Given the description of an element on the screen output the (x, y) to click on. 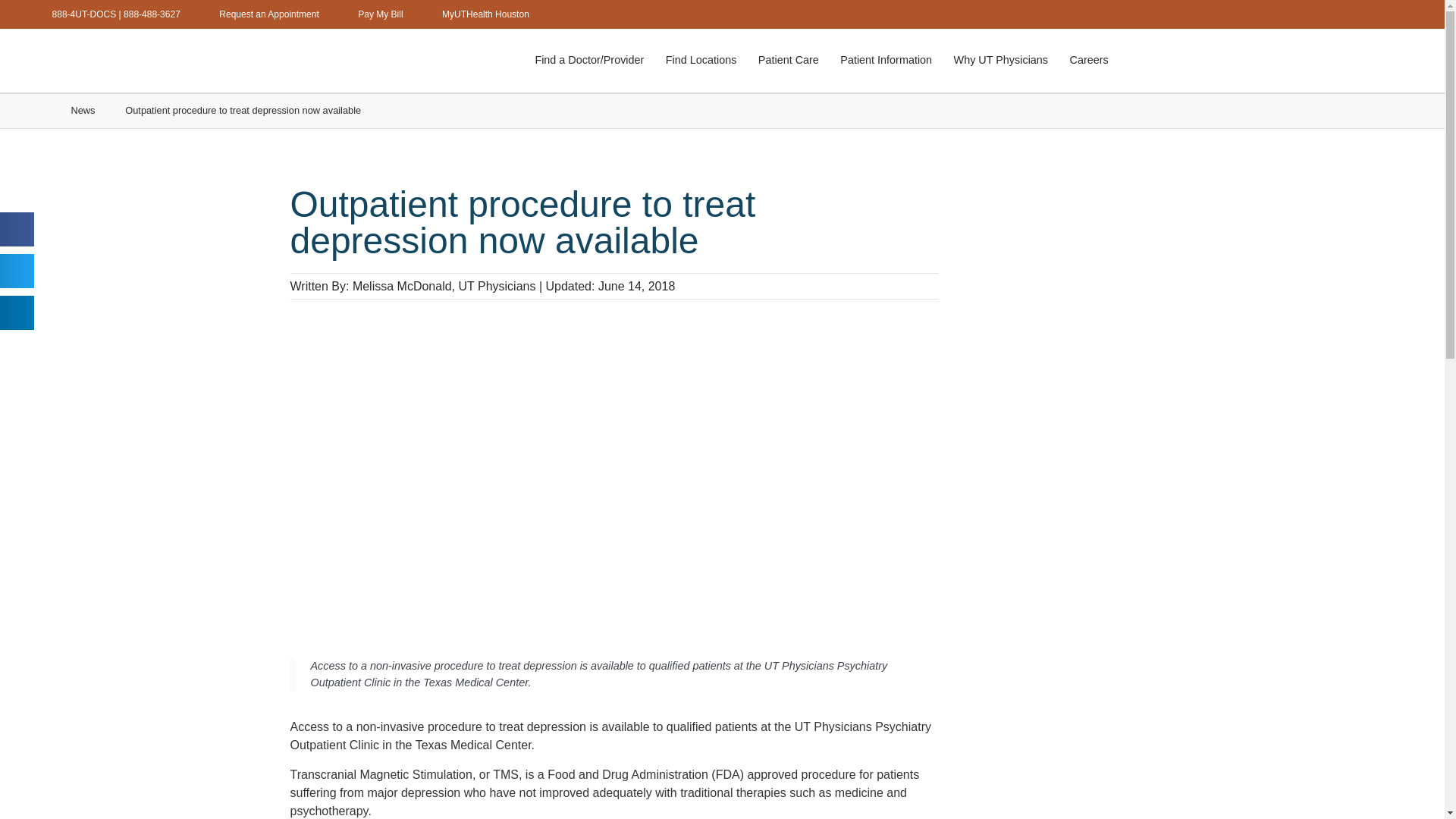
Patient Care (788, 60)
Find Locations (700, 60)
Patient Care (788, 60)
Request an Appointment (257, 14)
Patient Information (885, 60)
Careers (1089, 60)
Find Locations (700, 60)
MyUTHealth Houston (474, 14)
Why UT Physicians (1001, 60)
Pay My Bill (368, 14)
